Given the description of an element on the screen output the (x, y) to click on. 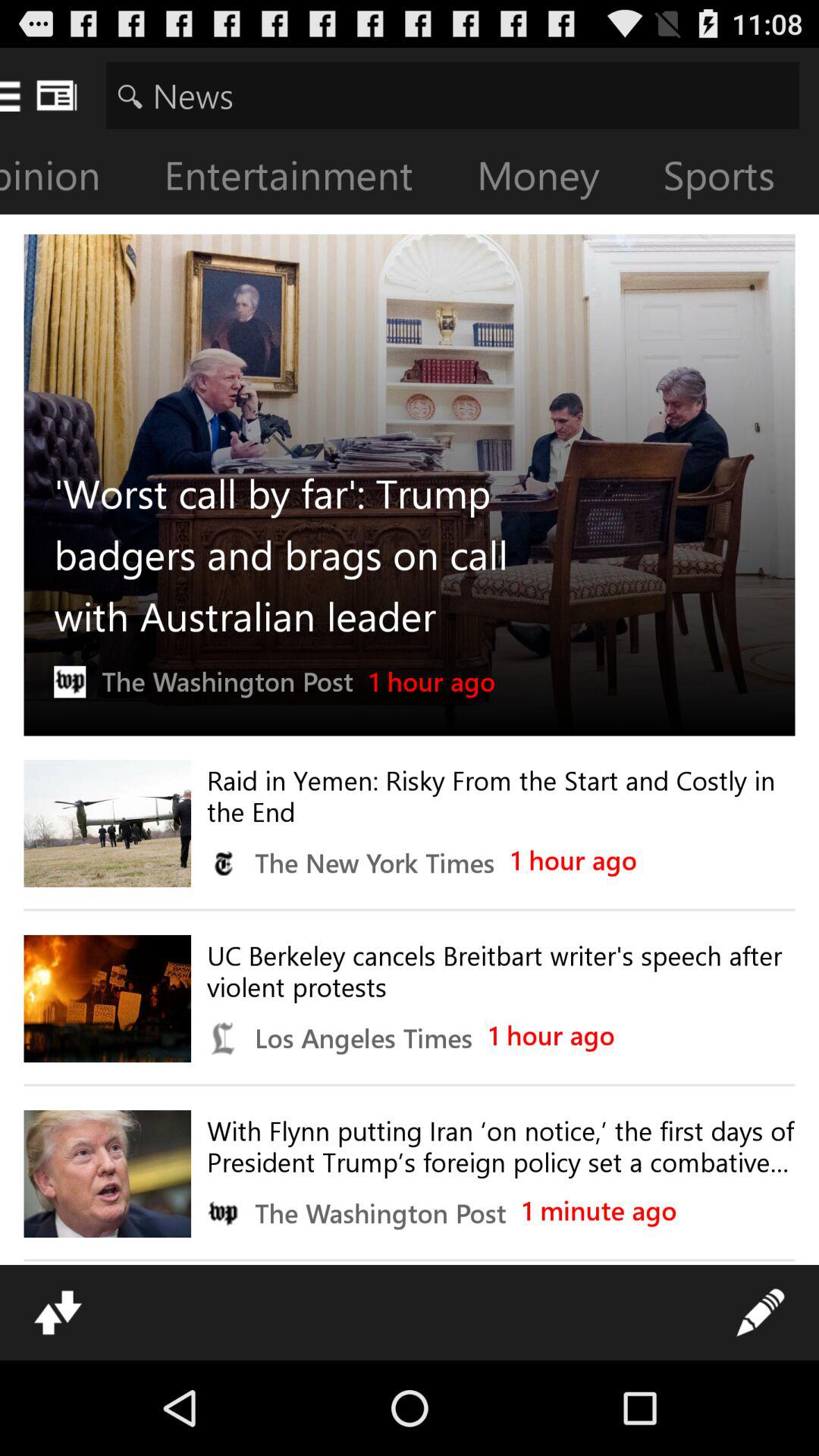
press the icon next to money (300, 178)
